Given the description of an element on the screen output the (x, y) to click on. 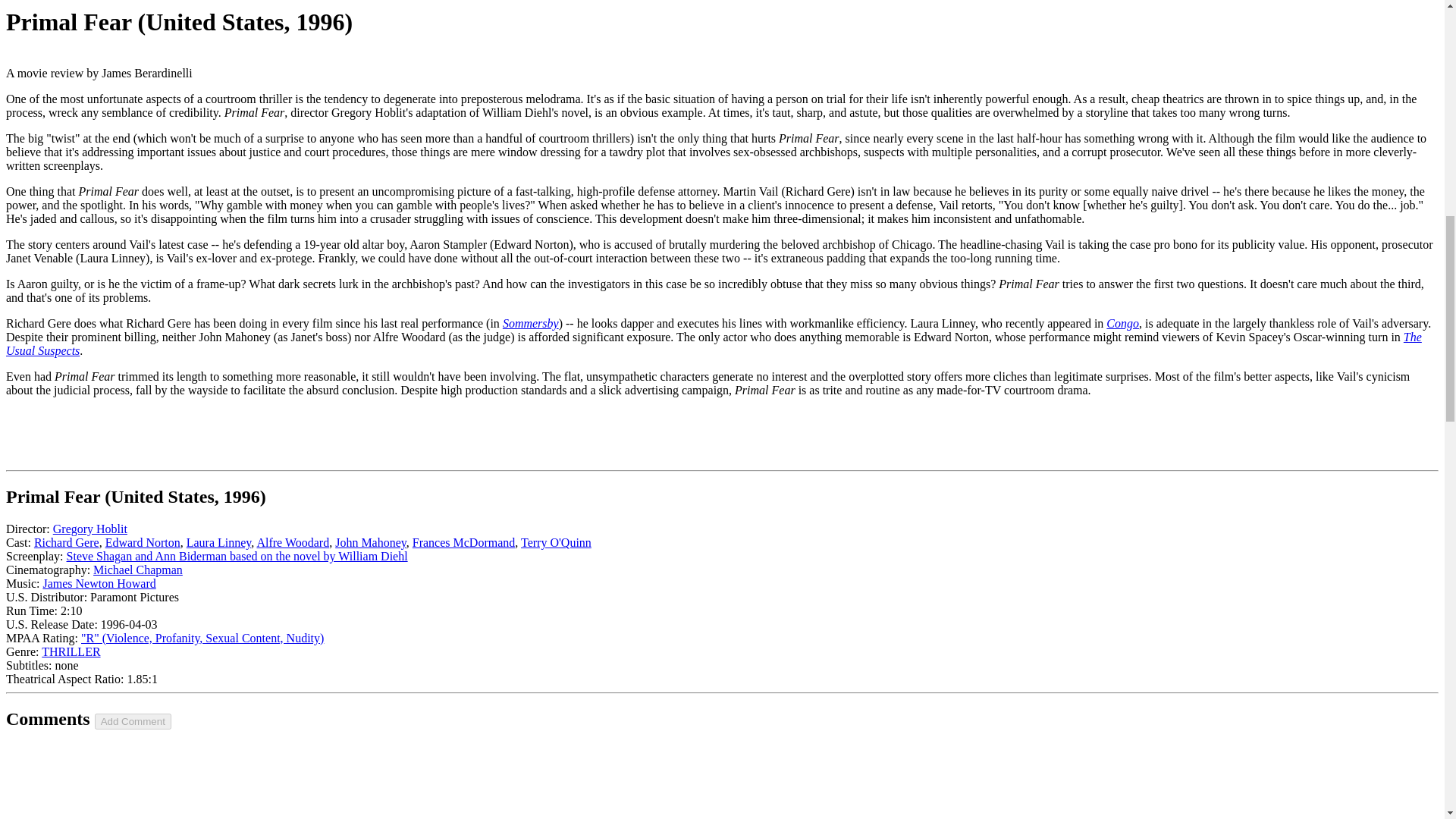
View all reviews for movies starring Laura Linney (218, 542)
John Mahoney (370, 542)
View all reviews for movies starring Frances McDormand (463, 542)
Richard Gere (66, 542)
James Newton Howard (98, 583)
Alfre Woodard (292, 542)
View all reviews for THRILLER movies (71, 651)
Congo (1122, 323)
Laura Linney (218, 542)
View all reviews for movies with R classification (202, 637)
